Given the description of an element on the screen output the (x, y) to click on. 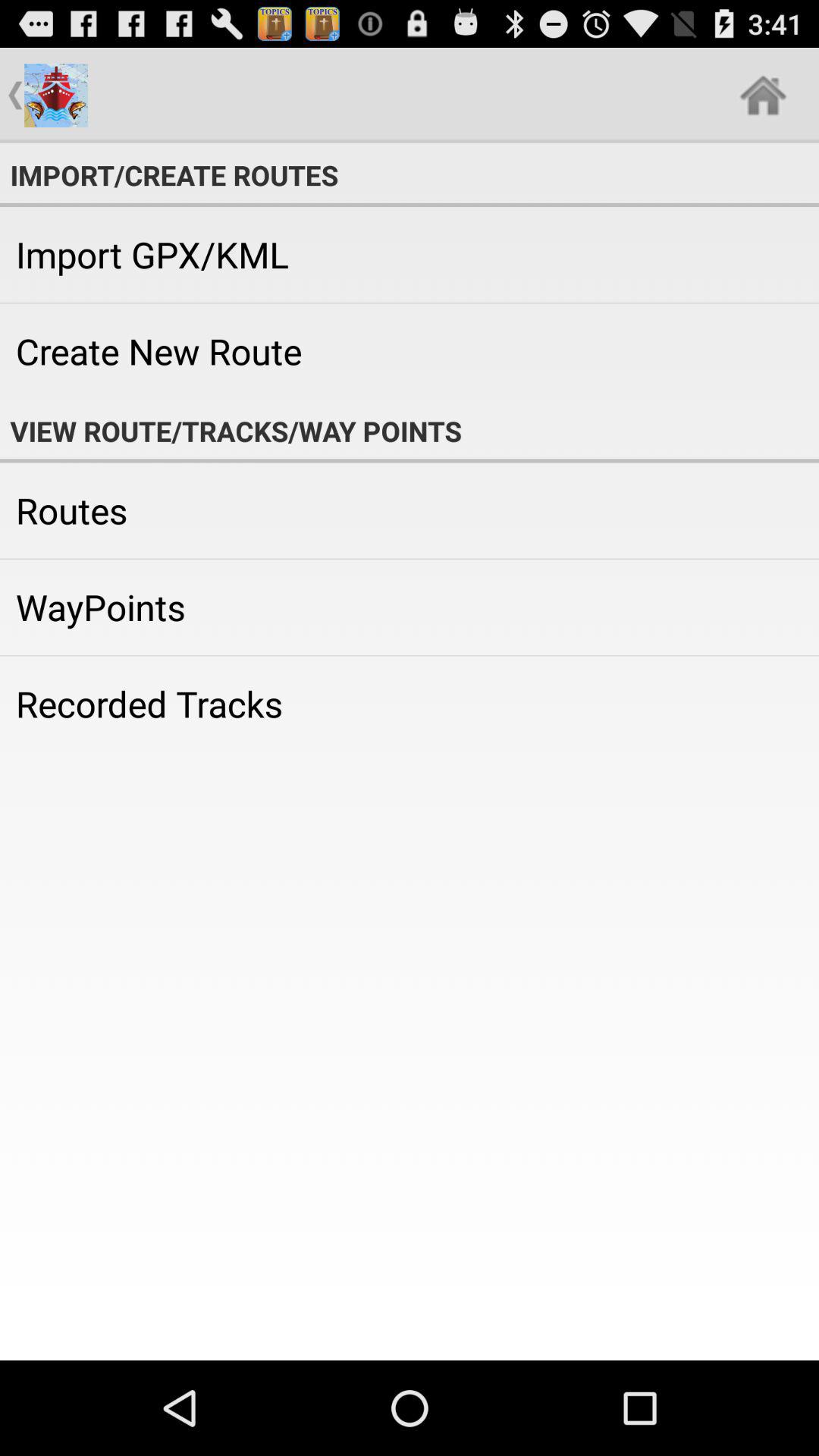
turn off create new route (409, 351)
